Given the description of an element on the screen output the (x, y) to click on. 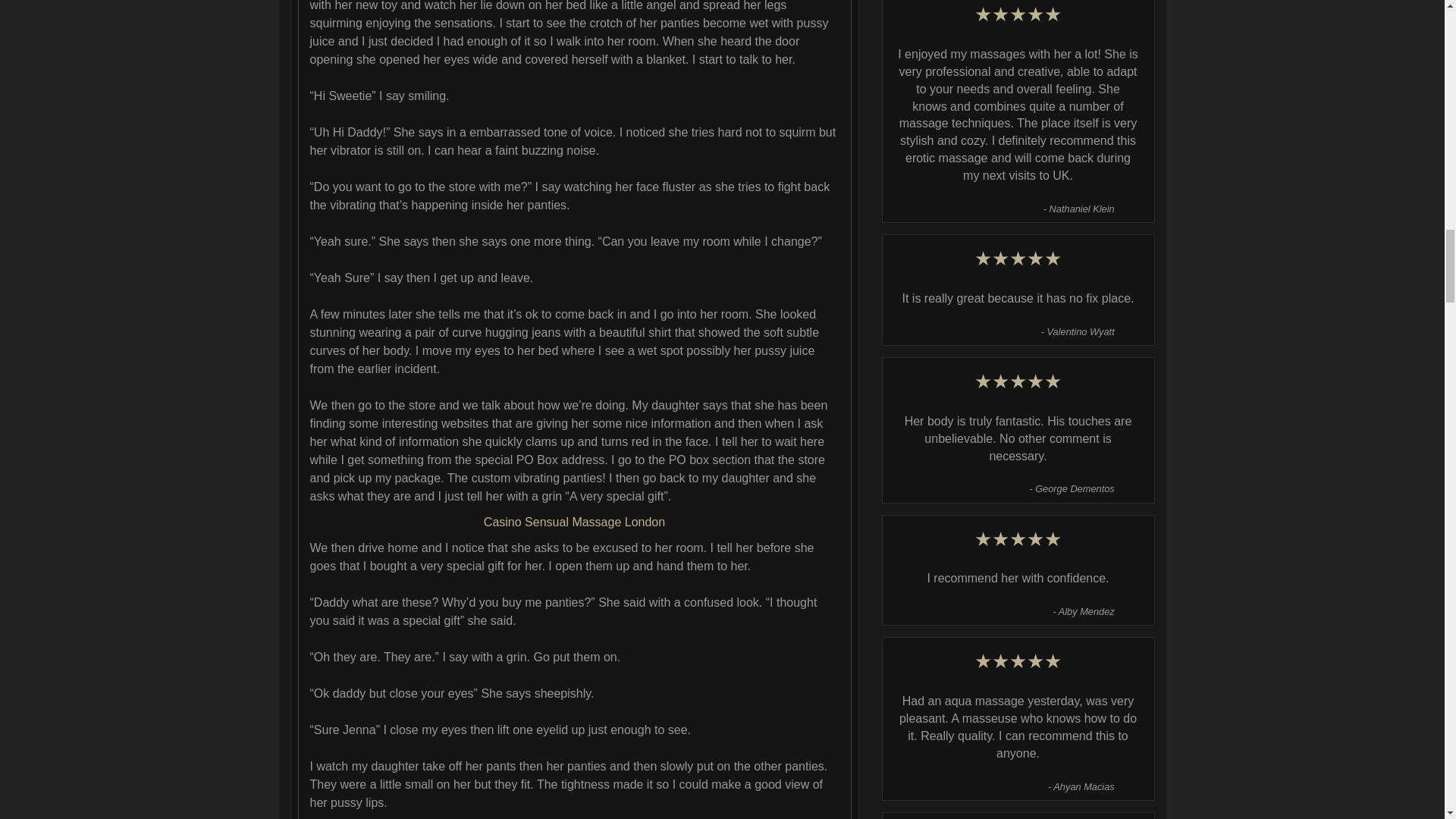
Casino Sensual Massage London (574, 521)
